Given the description of an element on the screen output the (x, y) to click on. 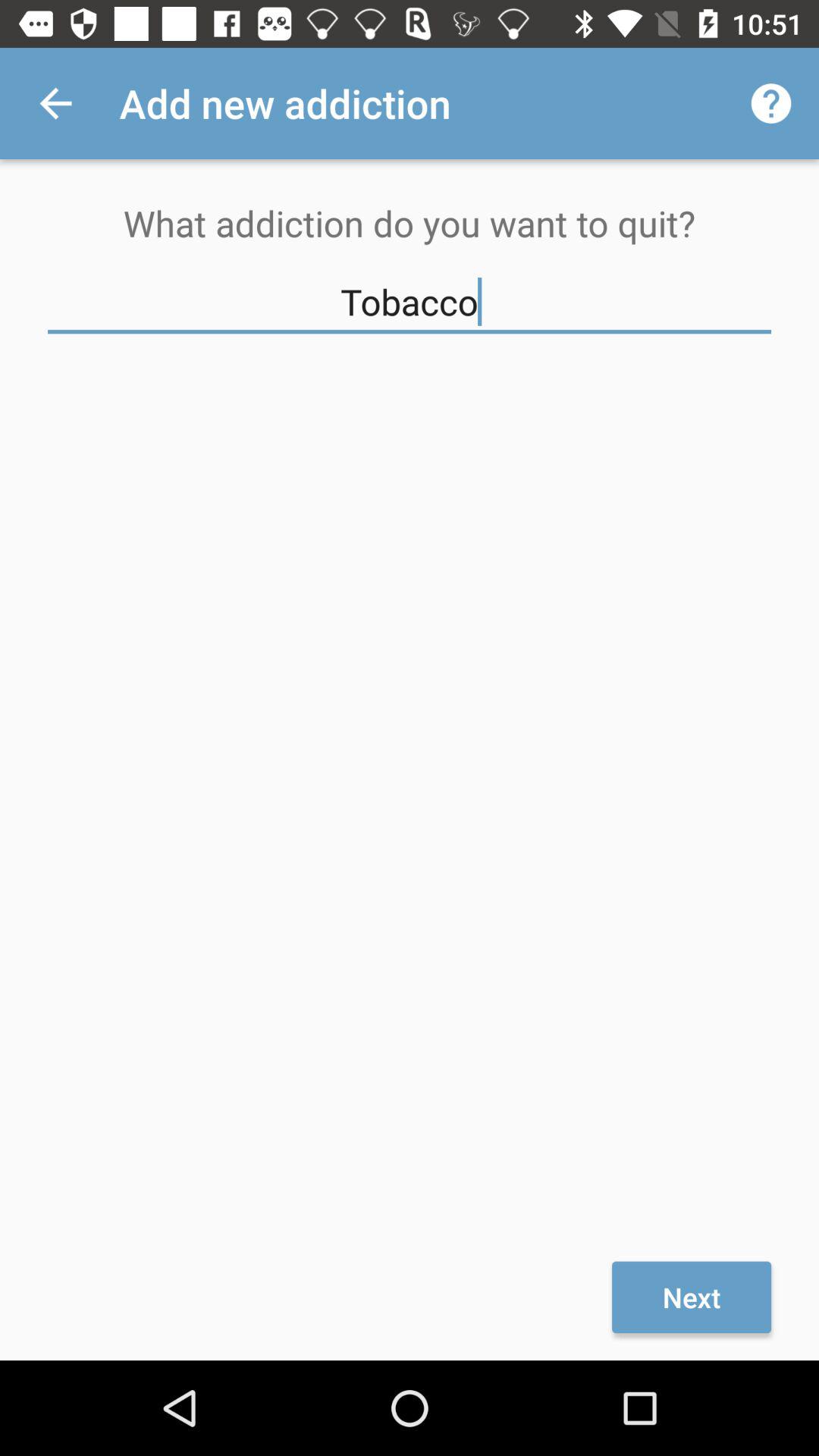
tap the icon at the bottom right corner (691, 1297)
